Given the description of an element on the screen output the (x, y) to click on. 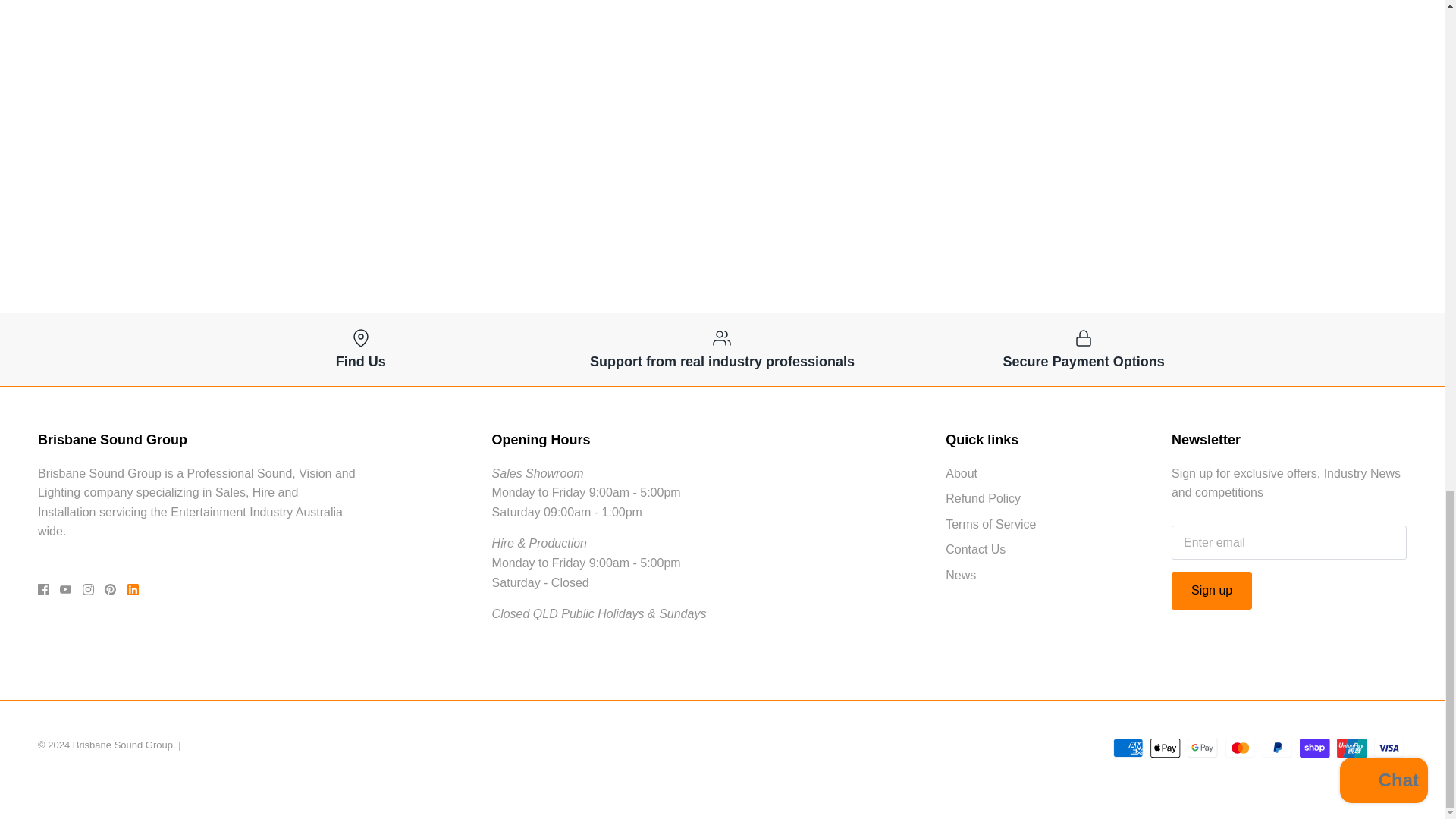
Facebook (43, 589)
Pinterest (110, 589)
Instagram (88, 589)
Youtube (65, 589)
